Given the description of an element on the screen output the (x, y) to click on. 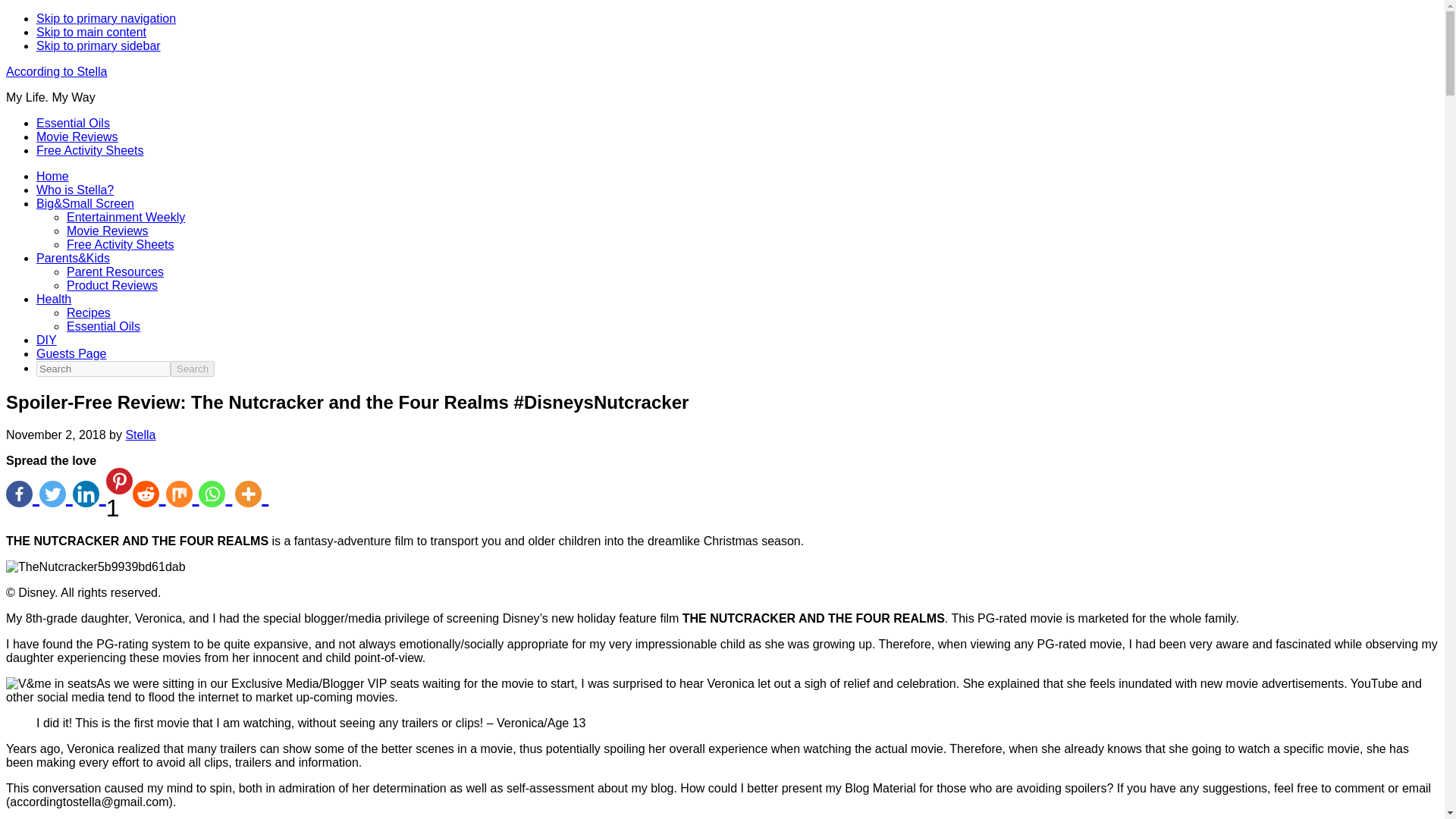
Skip to main content (91, 31)
Essential Oils (73, 123)
Reddit (148, 494)
Home (52, 175)
Who is Stella? (74, 189)
Search (192, 368)
Search (192, 368)
Guests Page (71, 353)
